Given the description of an element on the screen output the (x, y) to click on. 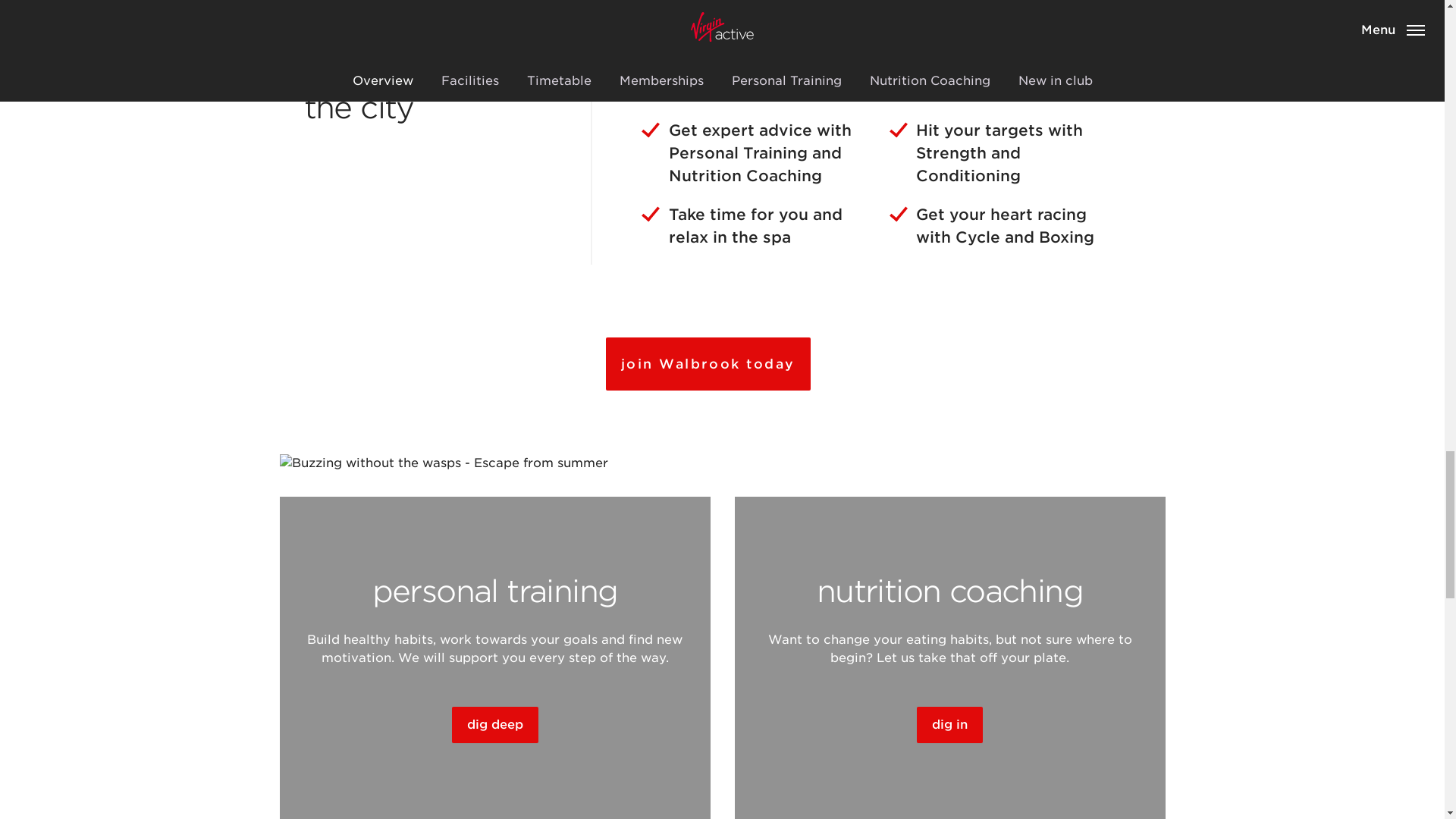
dig in (949, 724)
dig deep (494, 724)
join Walbrook today (707, 363)
